Given the description of an element on the screen output the (x, y) to click on. 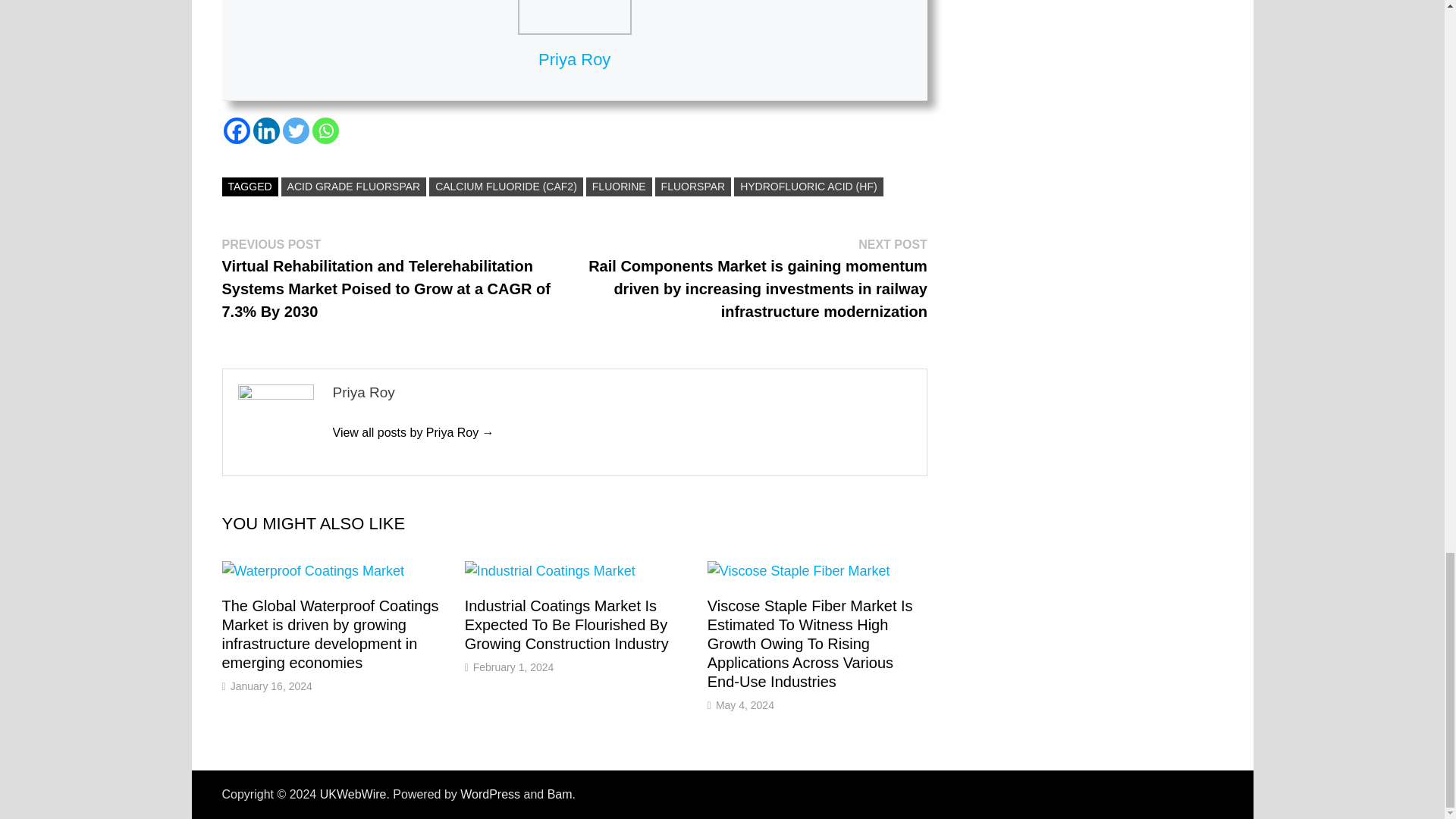
UKWebWire (353, 793)
Priya Roy (412, 431)
Twitter (295, 130)
Facebook (235, 130)
Whatsapp (326, 130)
Linkedin (266, 130)
